Given the description of an element on the screen output the (x, y) to click on. 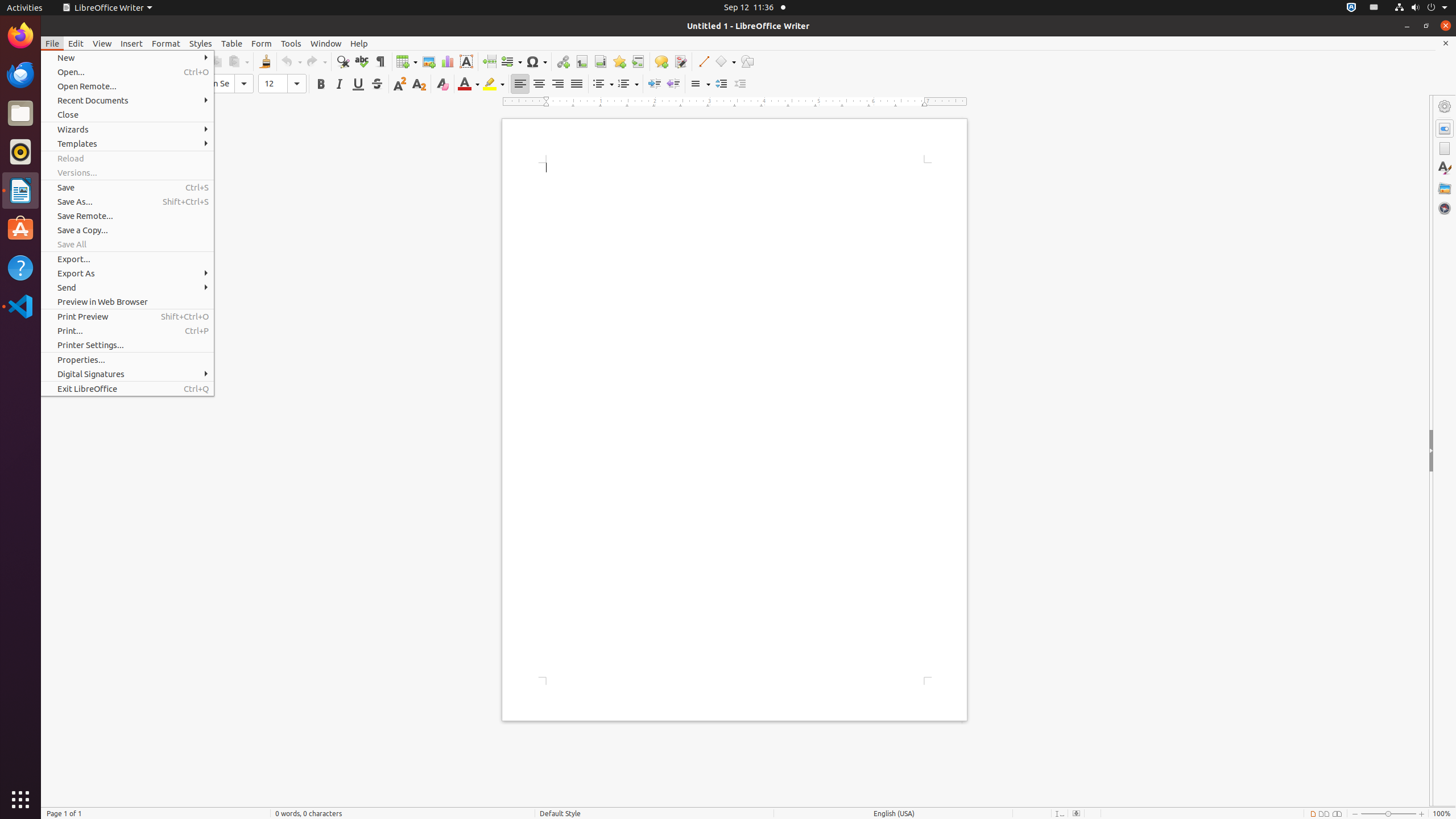
Versions... Element type: menu-item (126, 172)
Window Element type: menu (325, 43)
Footnote Element type: push-button (581, 61)
Spelling Element type: push-button (361, 61)
System Element type: menu (1420, 7)
